Given the description of an element on the screen output the (x, y) to click on. 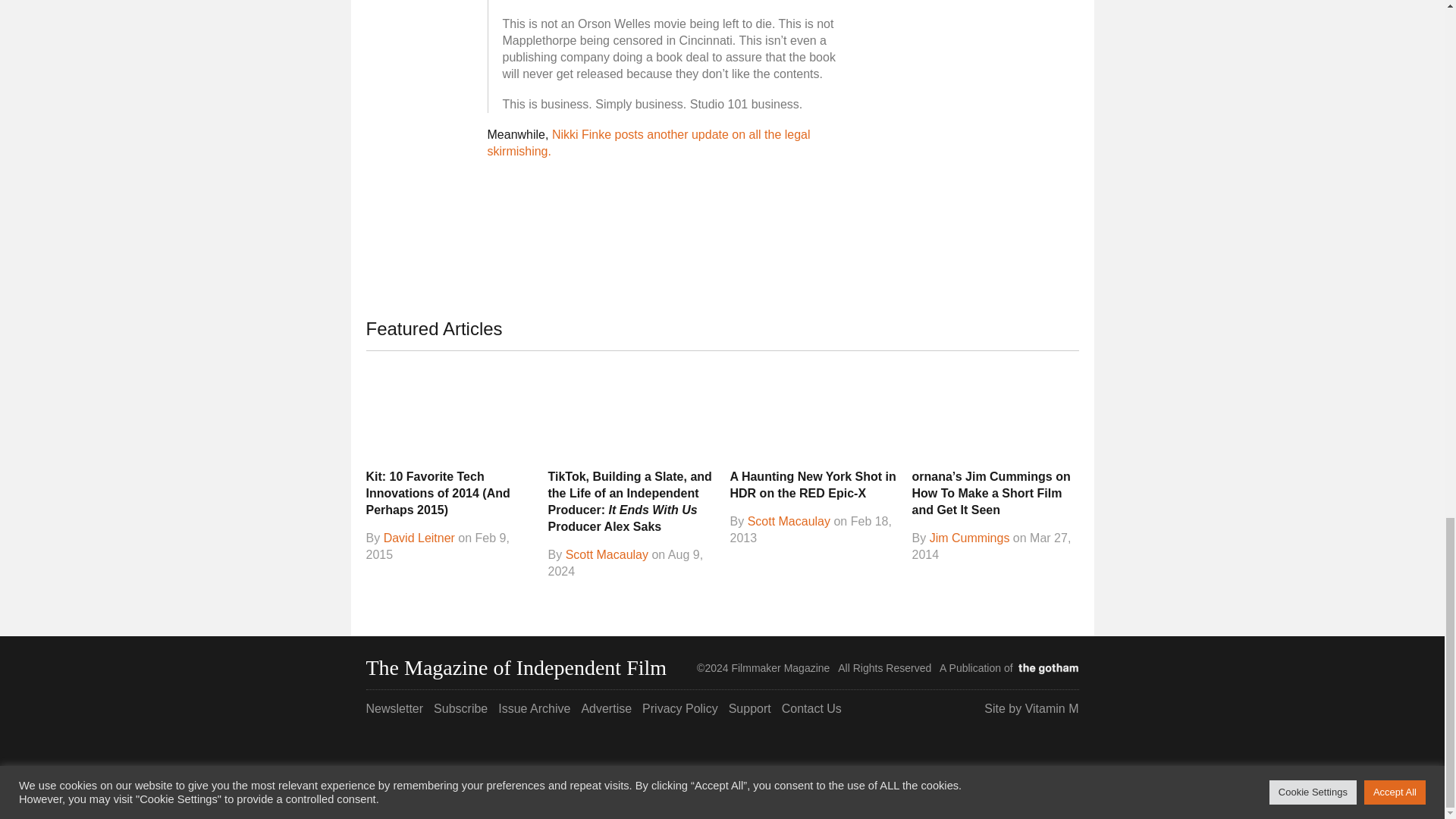
Posts by Jim Cummings (970, 538)
Posts by David Leitner (419, 538)
Posts by Scott Macaulay (788, 521)
Posts by Scott Macaulay (606, 554)
